Given the description of an element on the screen output the (x, y) to click on. 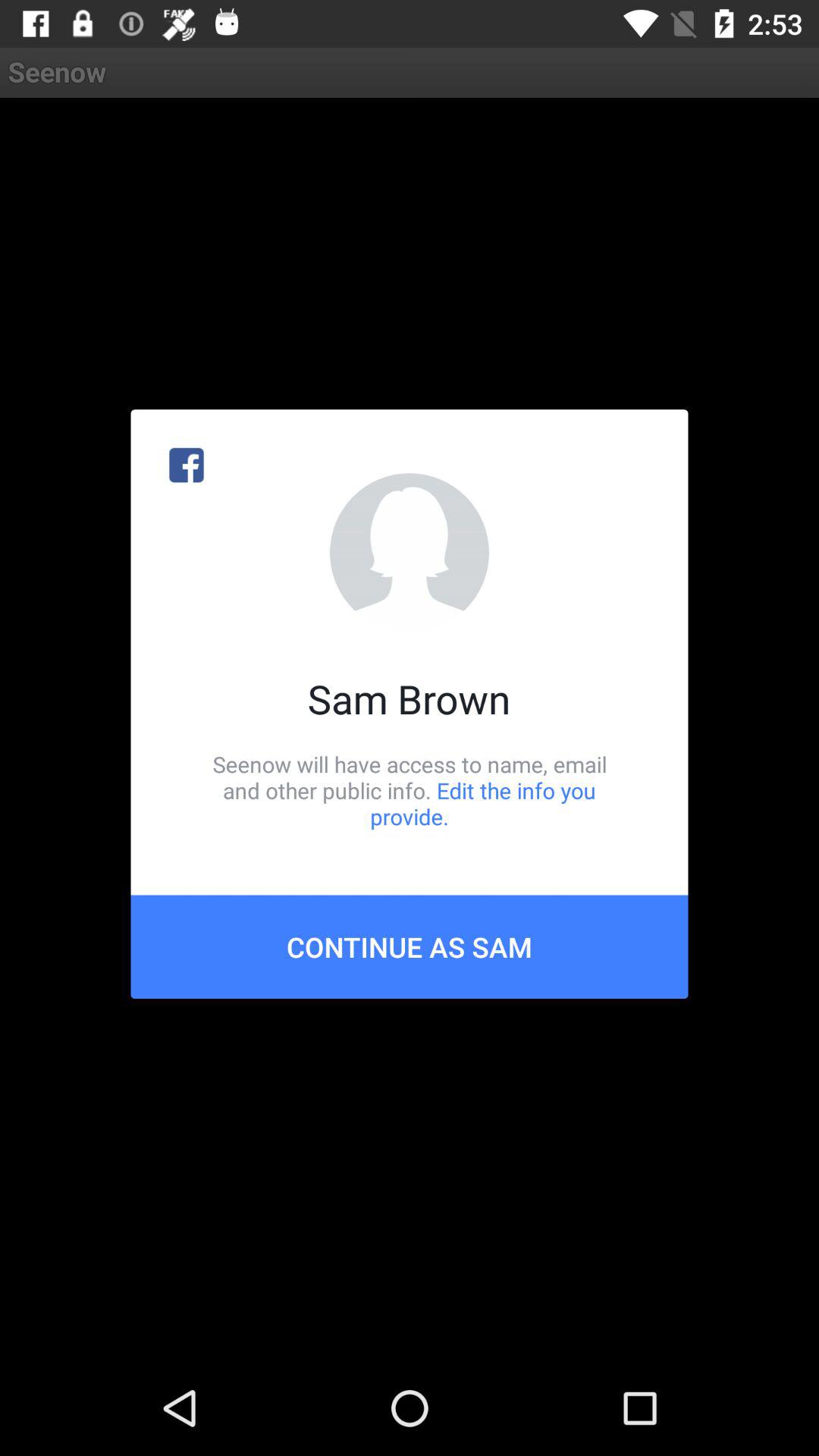
select the item below the sam brown (409, 790)
